Given the description of an element on the screen output the (x, y) to click on. 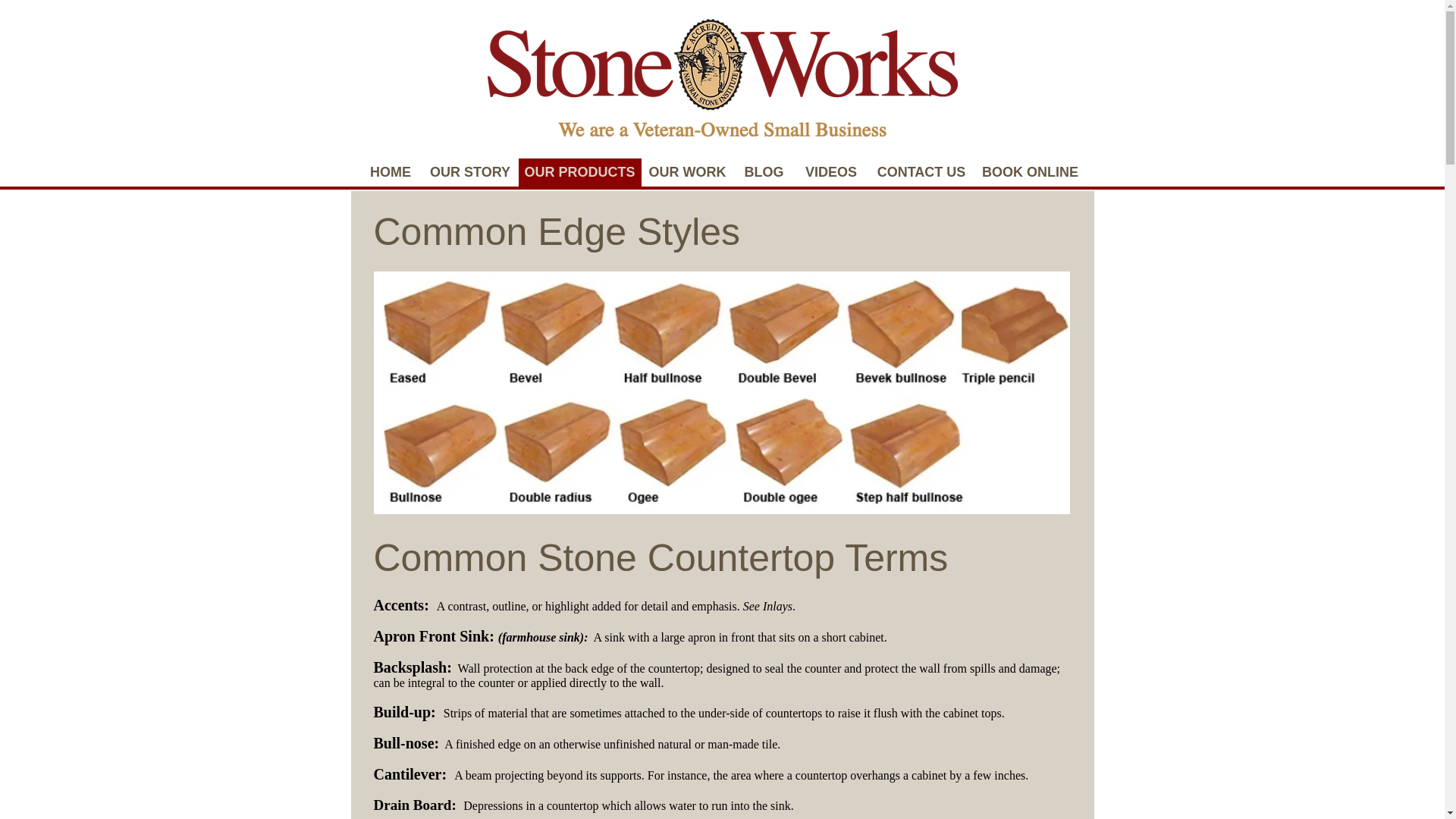
BOOK ONLINE (1030, 172)
OUR WORK (687, 172)
OUR PRODUCTS (580, 172)
VIDEOS (830, 172)
CONTACT US (920, 172)
OUR STORY (470, 172)
HOME (390, 172)
BLOG (763, 172)
